Given the description of an element on the screen output the (x, y) to click on. 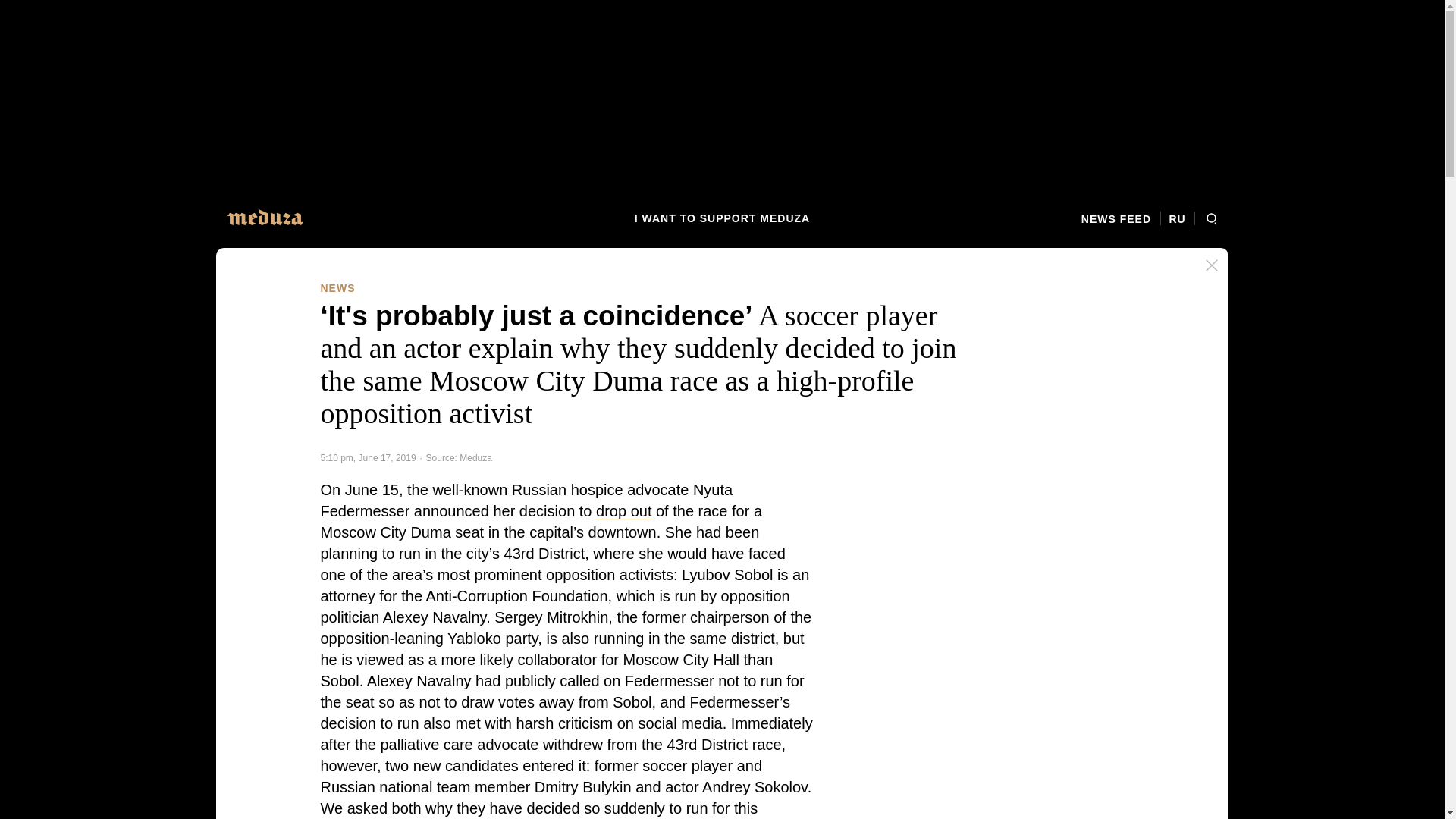
I WANT TO SUPPORT MEDUZA (722, 218)
NEWS FEED (1120, 218)
drop out (622, 510)
RU (1176, 218)
